Given the description of an element on the screen output the (x, y) to click on. 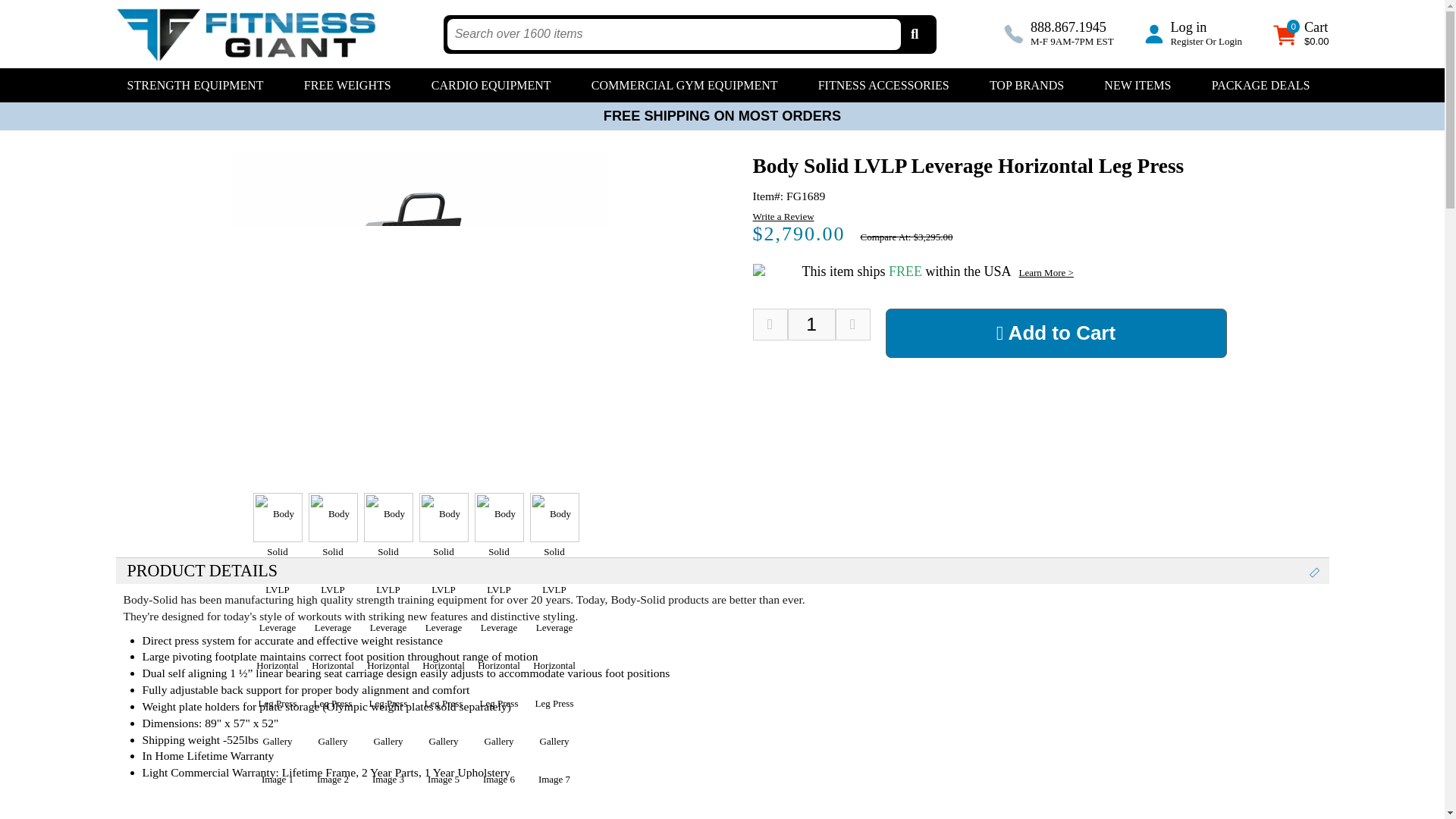
1 (810, 324)
STRENGTH EQUIPMENT (198, 84)
Register (1186, 41)
Search over 1600 items (673, 33)
Login (1229, 41)
Log in (1188, 27)
